Given the description of an element on the screen output the (x, y) to click on. 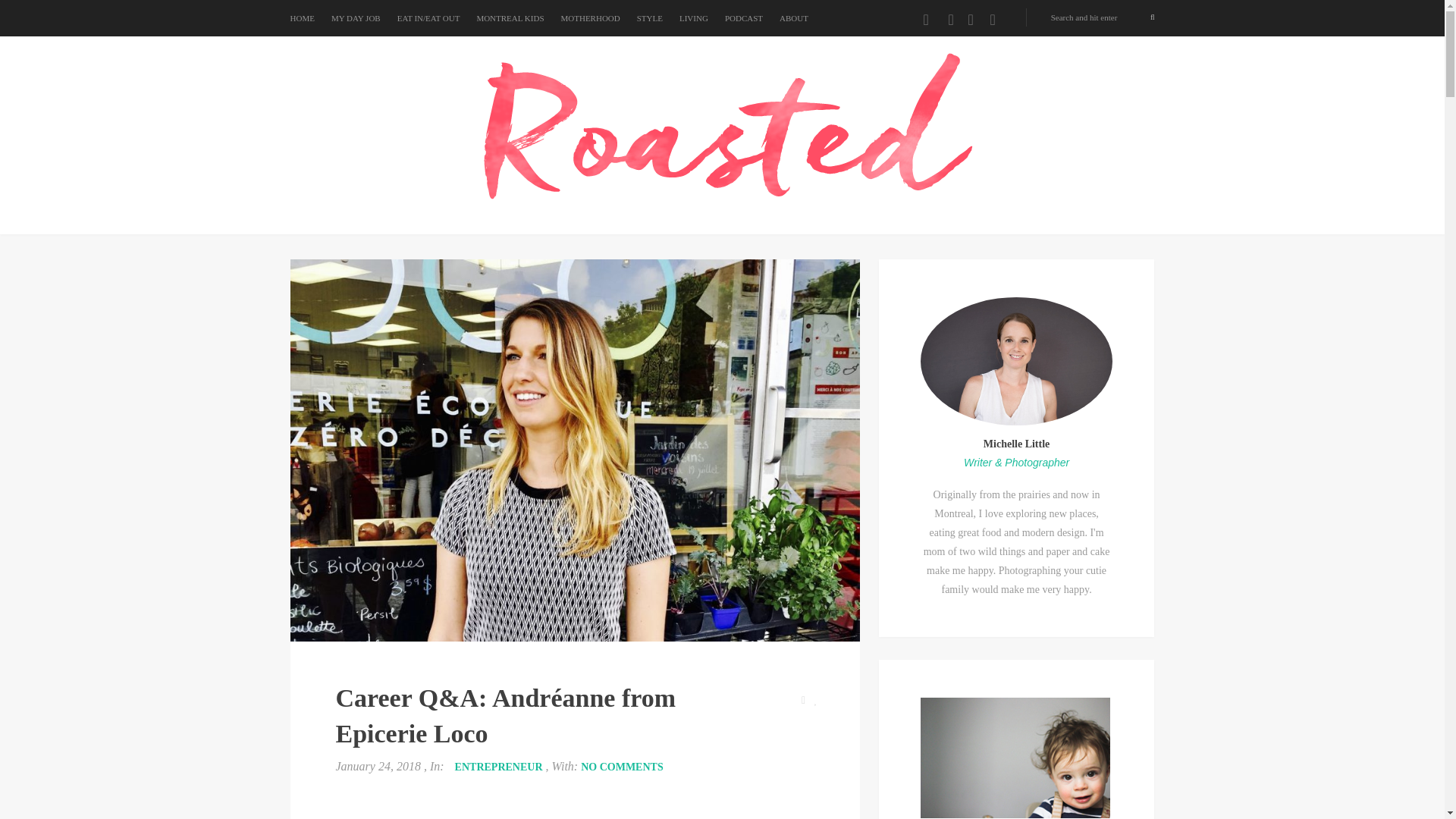
MY DAY JOB (355, 18)
